Given the description of an element on the screen output the (x, y) to click on. 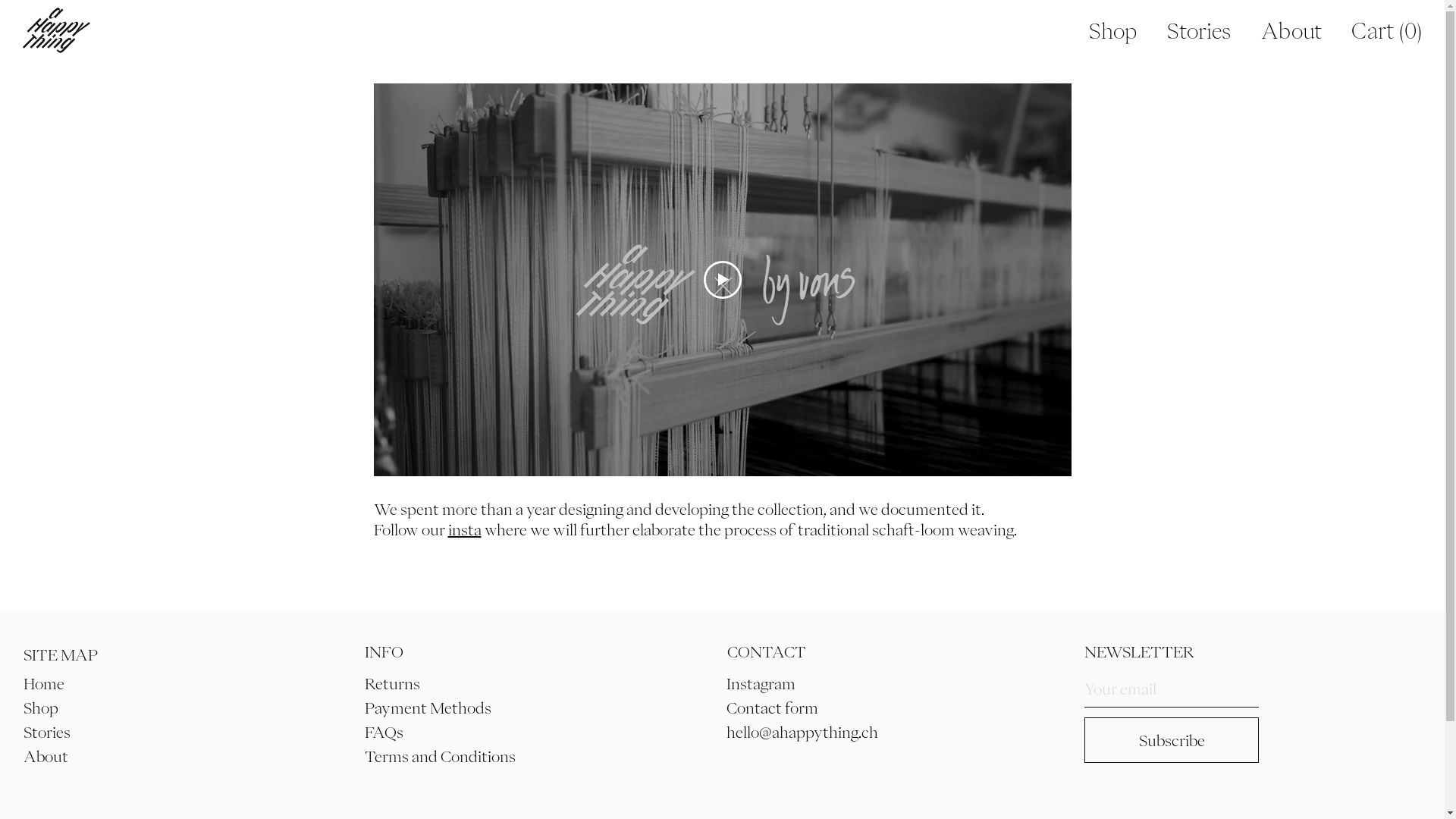
insta Element type: text (463, 528)
Stories Element type: text (46, 731)
Subscribe Element type: text (1171, 739)
Payment Methods Element type: text (427, 707)
Terms and Conditions Element type: text (439, 755)
Shop Element type: text (1112, 29)
Returns Element type: text (392, 682)
Cart (0) Element type: text (1386, 30)
About Element type: text (1290, 29)
FAQs Element type: text (383, 731)
About Element type: text (45, 755)
Shop Element type: text (40, 707)
Home Element type: text (43, 682)
Instagram Element type: text (760, 682)
Contact form Element type: text (772, 707)
Stories Element type: text (1198, 29)
hello@ahappything.ch Element type: text (802, 731)
